Given the description of an element on the screen output the (x, y) to click on. 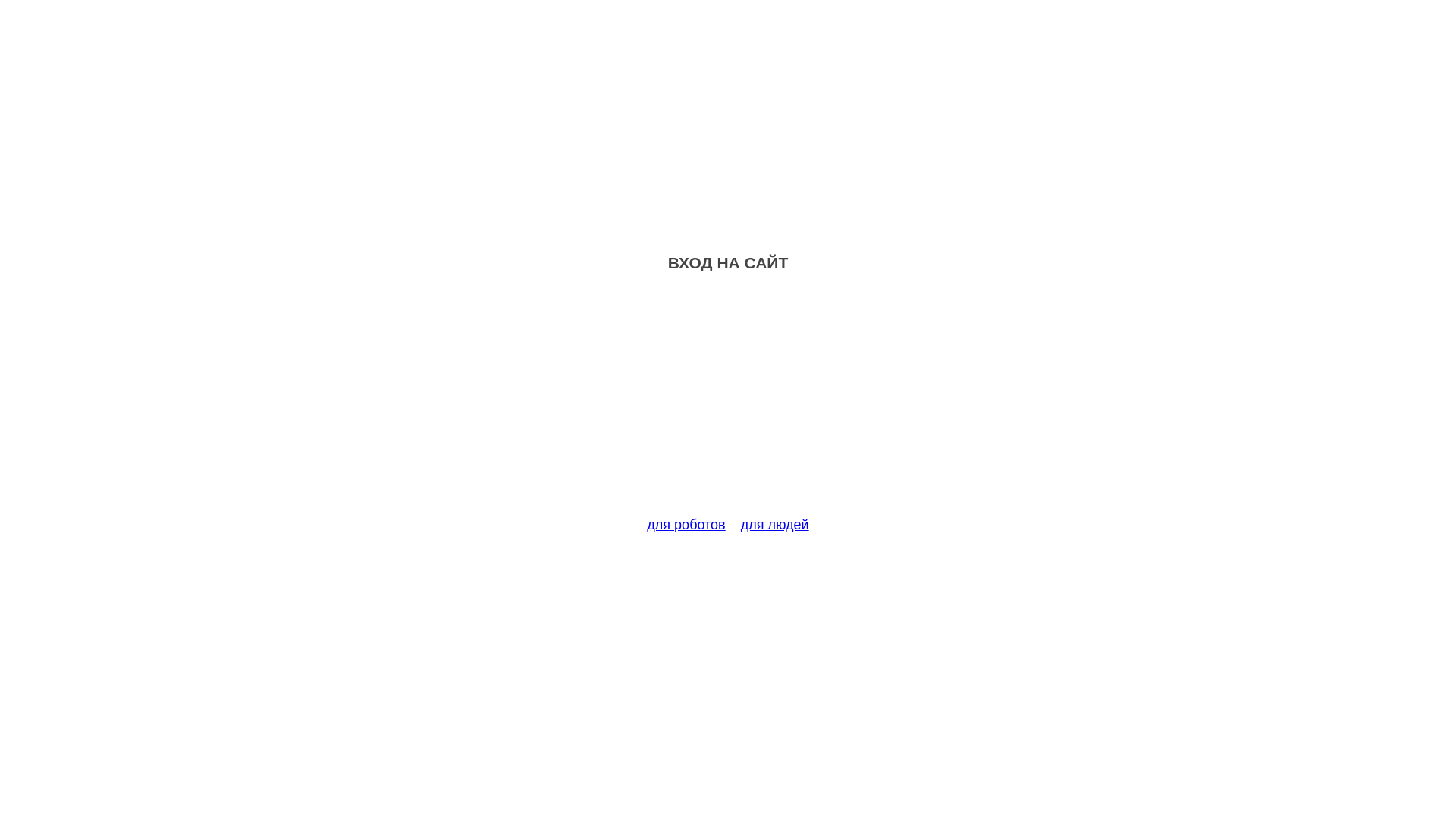
Advertisement Element type: hover (727, 403)
